Given the description of an element on the screen output the (x, y) to click on. 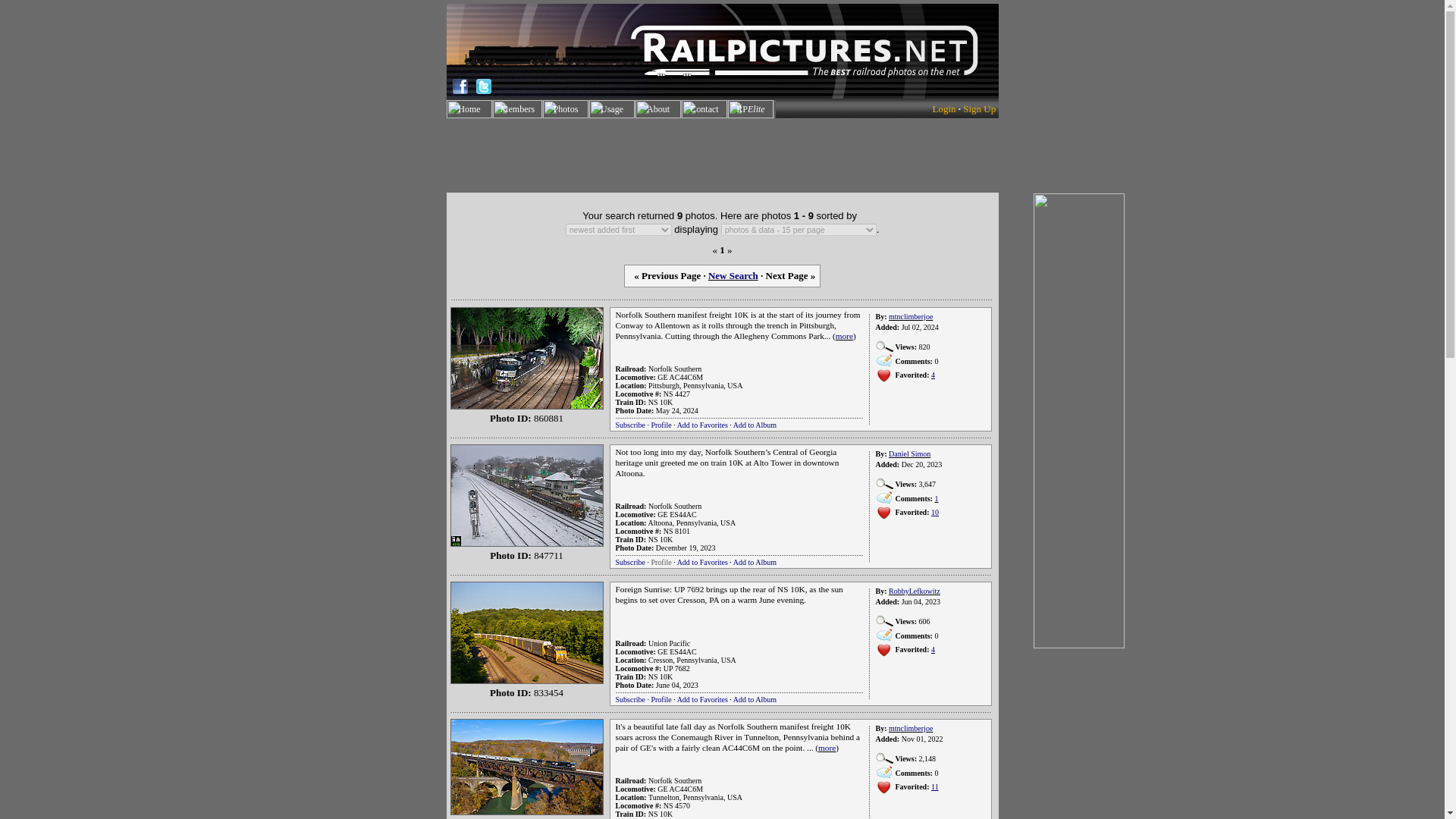
more (844, 335)
Sign Up (978, 108)
NS 4427 (676, 393)
NS 10K (659, 402)
Daniel Simon (909, 453)
Norfolk Southern (674, 368)
Union Pacific (668, 643)
GE AC44C6M (680, 377)
Subscribe (630, 424)
mtnclimberjoe (910, 316)
